Given the description of an element on the screen output the (x, y) to click on. 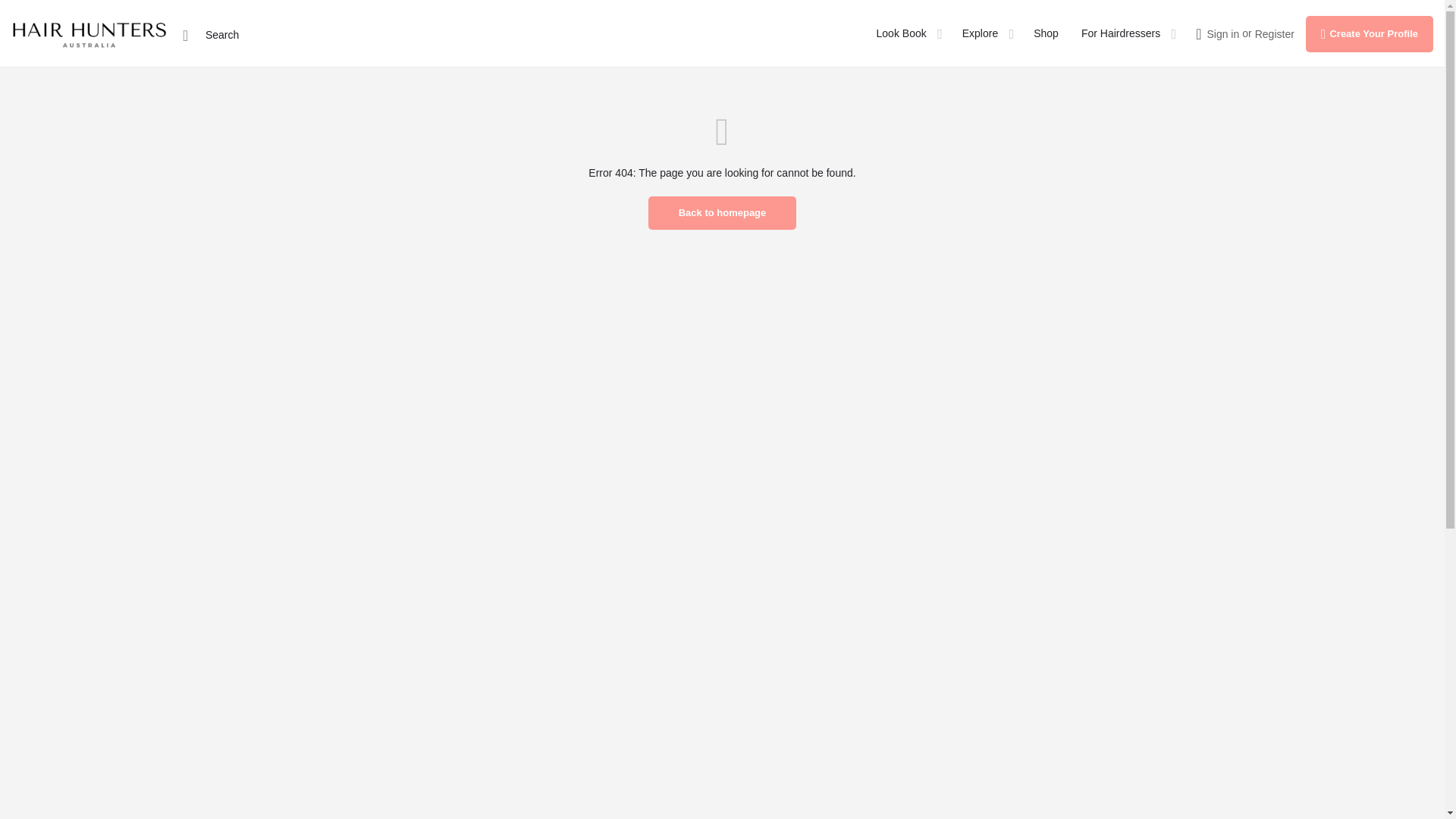
Shop (1045, 32)
Explore (979, 32)
For Hairdressers (1120, 32)
Create Your Profile (1369, 33)
Back to homepage (721, 213)
Sign in (1223, 33)
Register (1274, 33)
Look Book (901, 32)
